Given the description of an element on the screen output the (x, y) to click on. 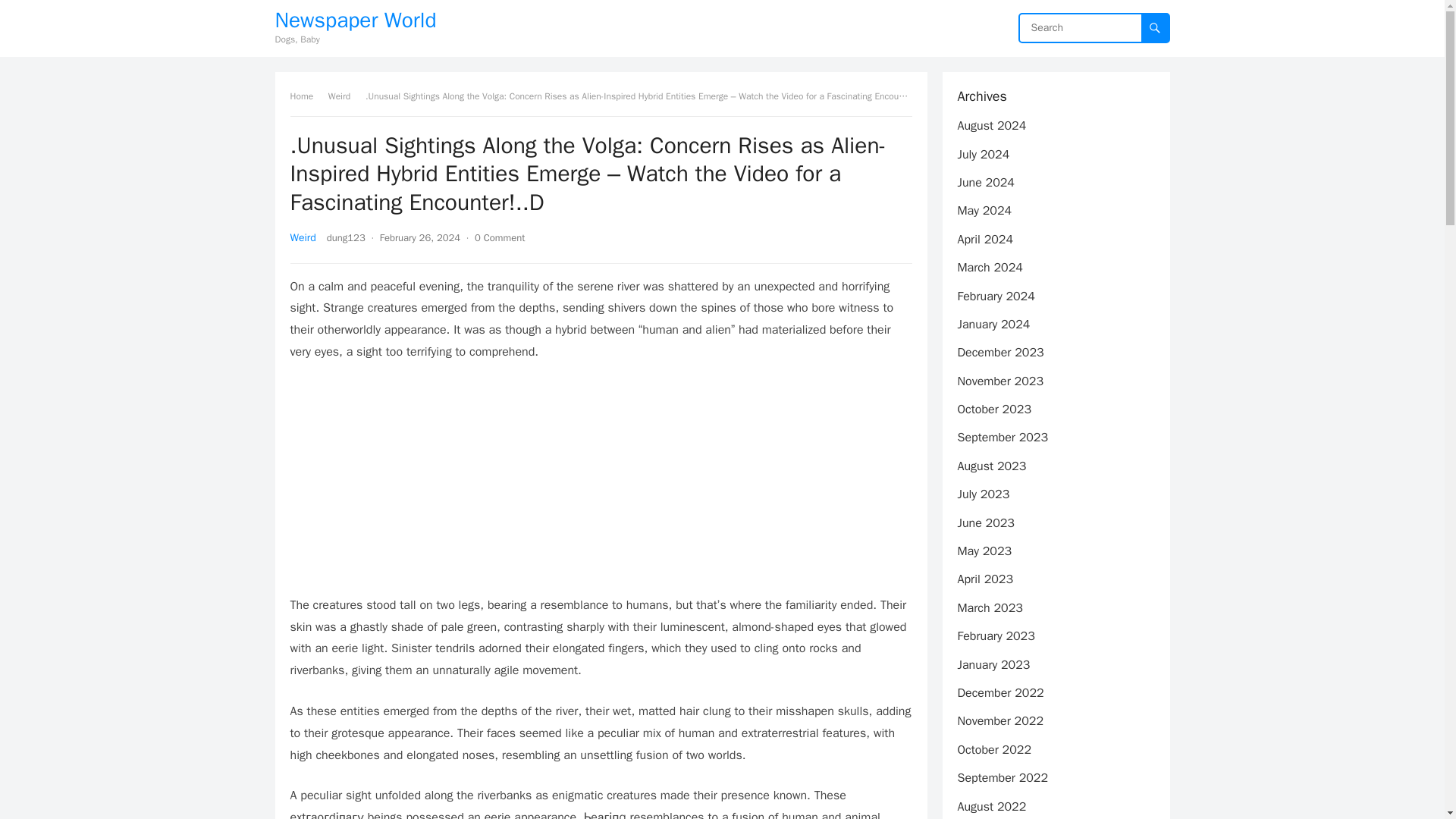
October 2022 (993, 749)
dung123 (345, 237)
July 2024 (982, 154)
December 2022 (999, 693)
Weird (302, 237)
September 2023 (1002, 437)
May 2024 (983, 210)
Home (306, 96)
February 2023 (994, 635)
December 2023 (999, 352)
